Given the description of an element on the screen output the (x, y) to click on. 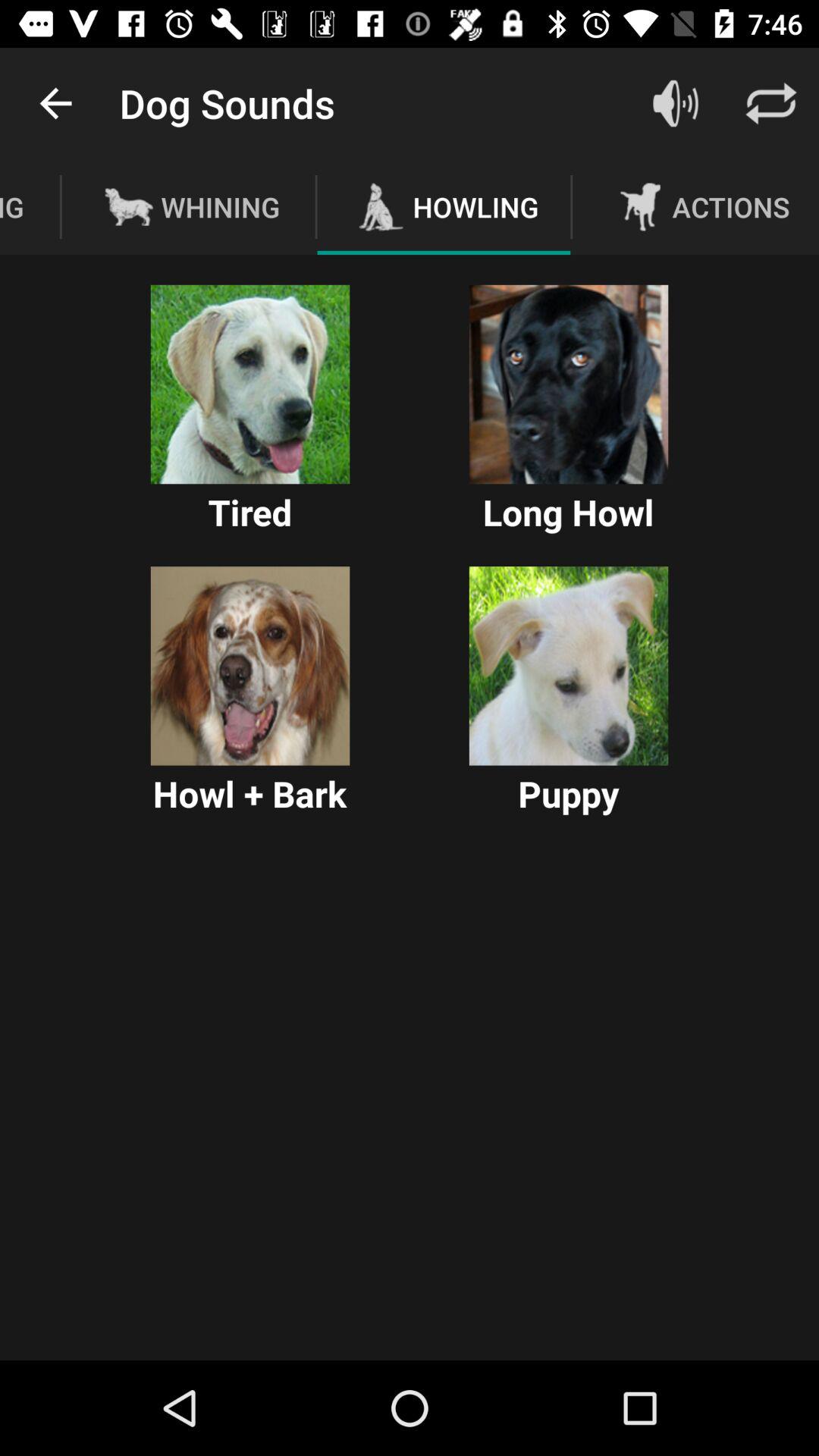
select howl bark sound (249, 665)
